Given the description of an element on the screen output the (x, y) to click on. 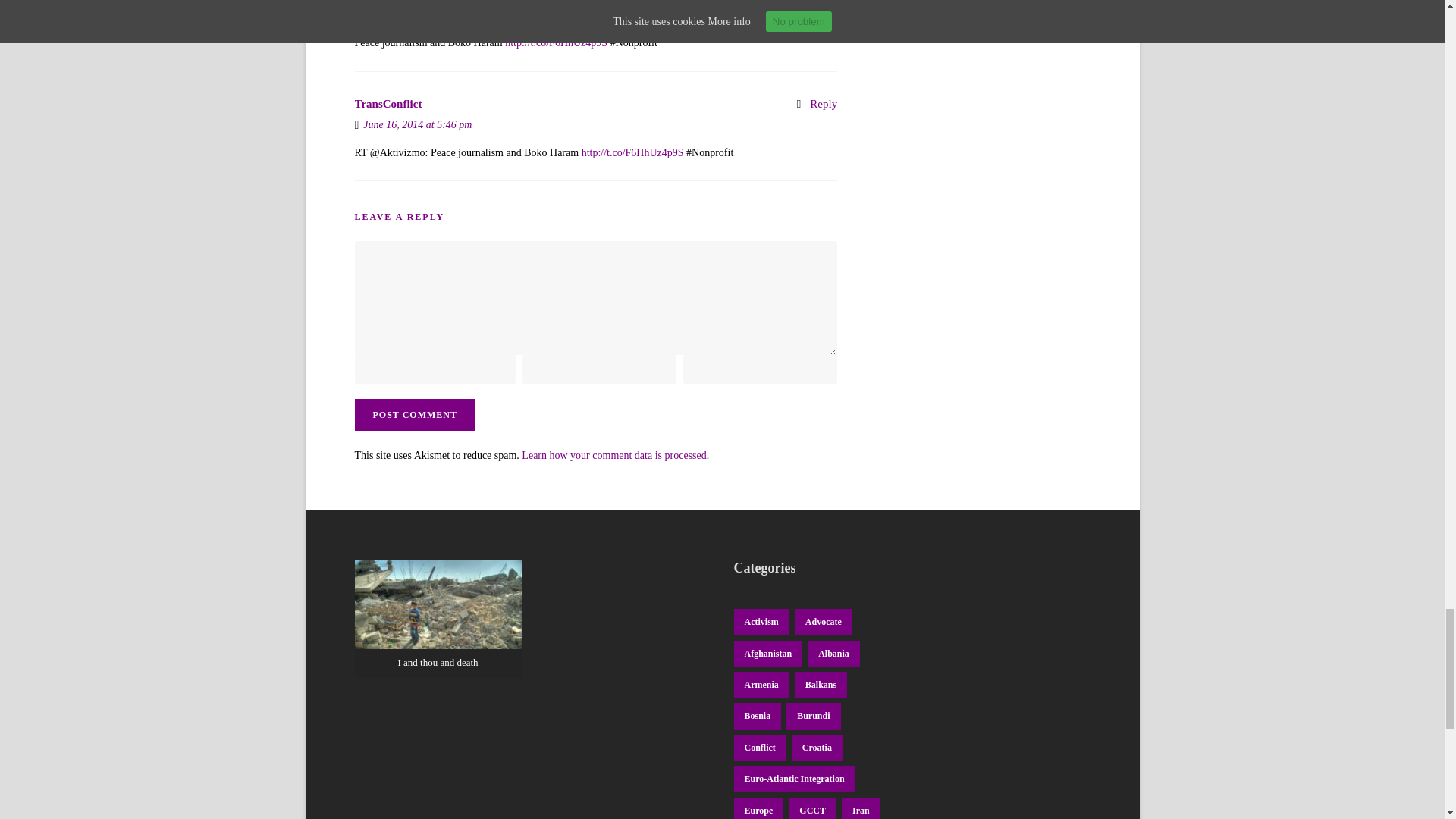
Post Comment (415, 414)
